Given the description of an element on the screen output the (x, y) to click on. 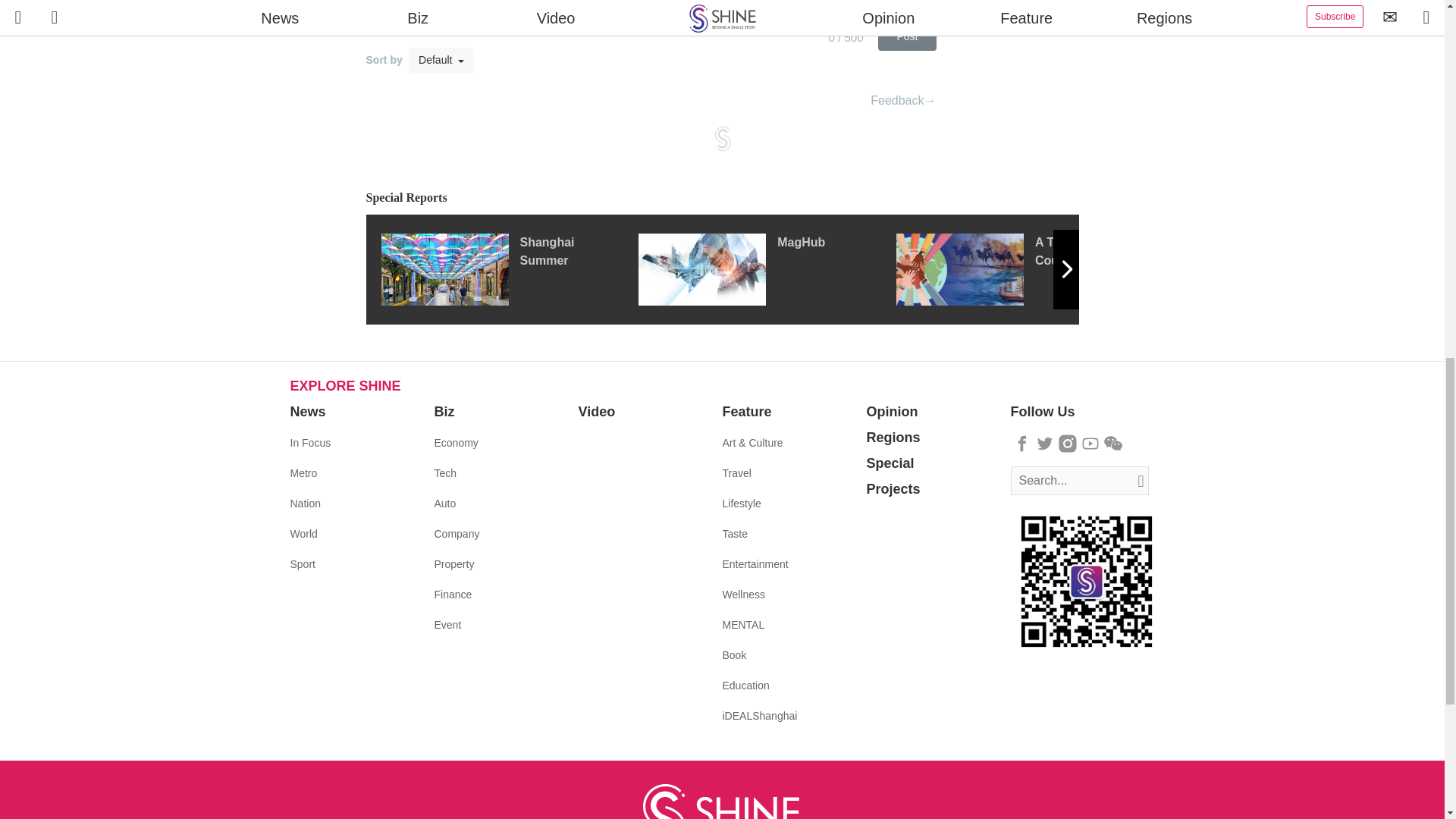
Follow us on Youtube (1090, 443)
MagHub (767, 268)
Follow us on Facebook (1021, 443)
Follow us on Instagram (1067, 443)
A Tale of Two Countries (1024, 268)
Follow us on Wechat (1112, 443)
Shanghai Summer (508, 268)
Special Reports (721, 198)
Follow us on Twitter (1044, 443)
Default   (441, 60)
